Given the description of an element on the screen output the (x, y) to click on. 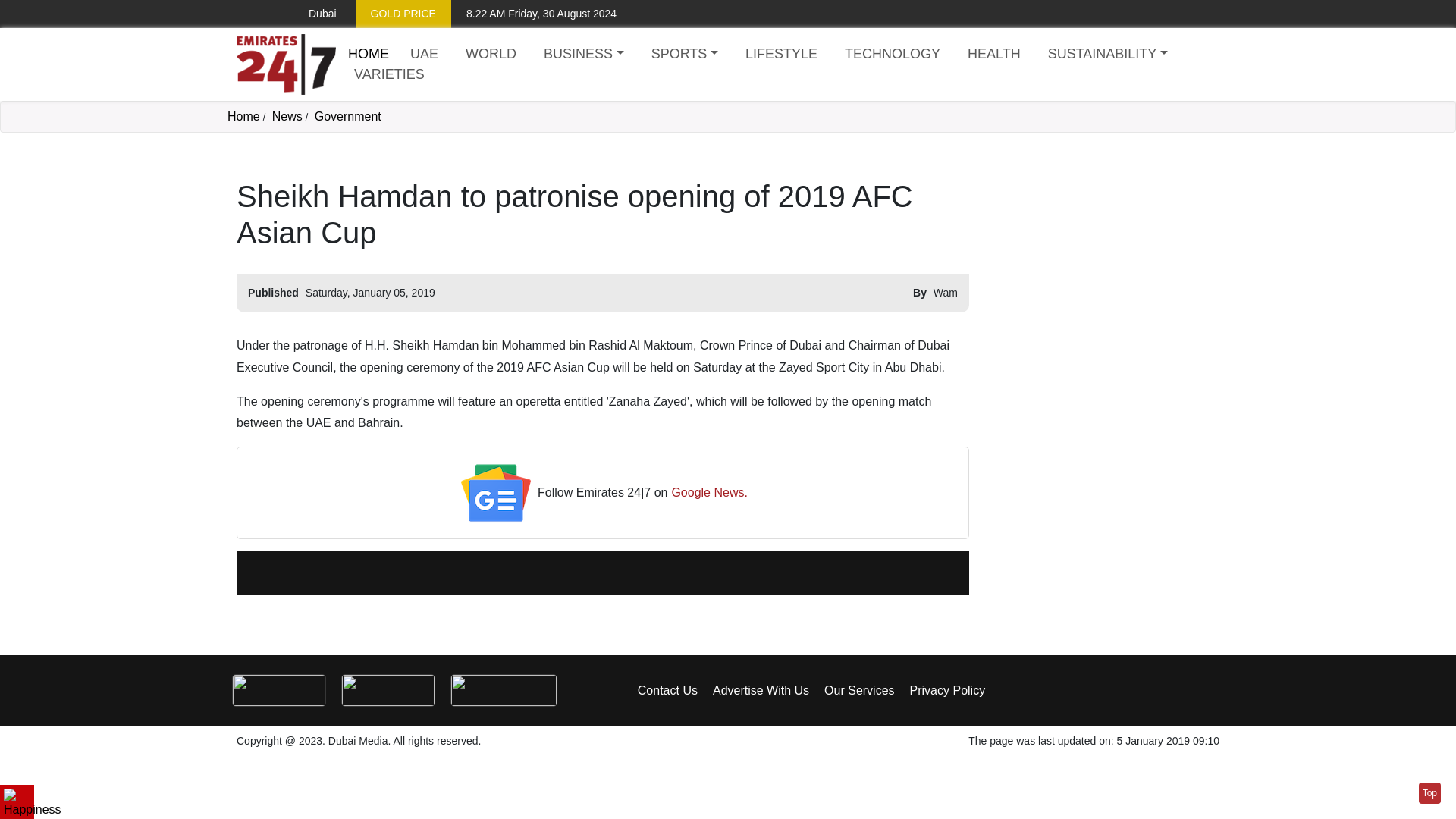
Home (285, 64)
WORLD (491, 54)
GOLD PRICE (403, 13)
HEALTH (993, 54)
News (287, 115)
Dubai (311, 13)
VARIETIES (388, 74)
Google News. (709, 493)
TECHNOLOGY (892, 54)
SUSTAINABILITY (1107, 54)
